Given the description of an element on the screen output the (x, y) to click on. 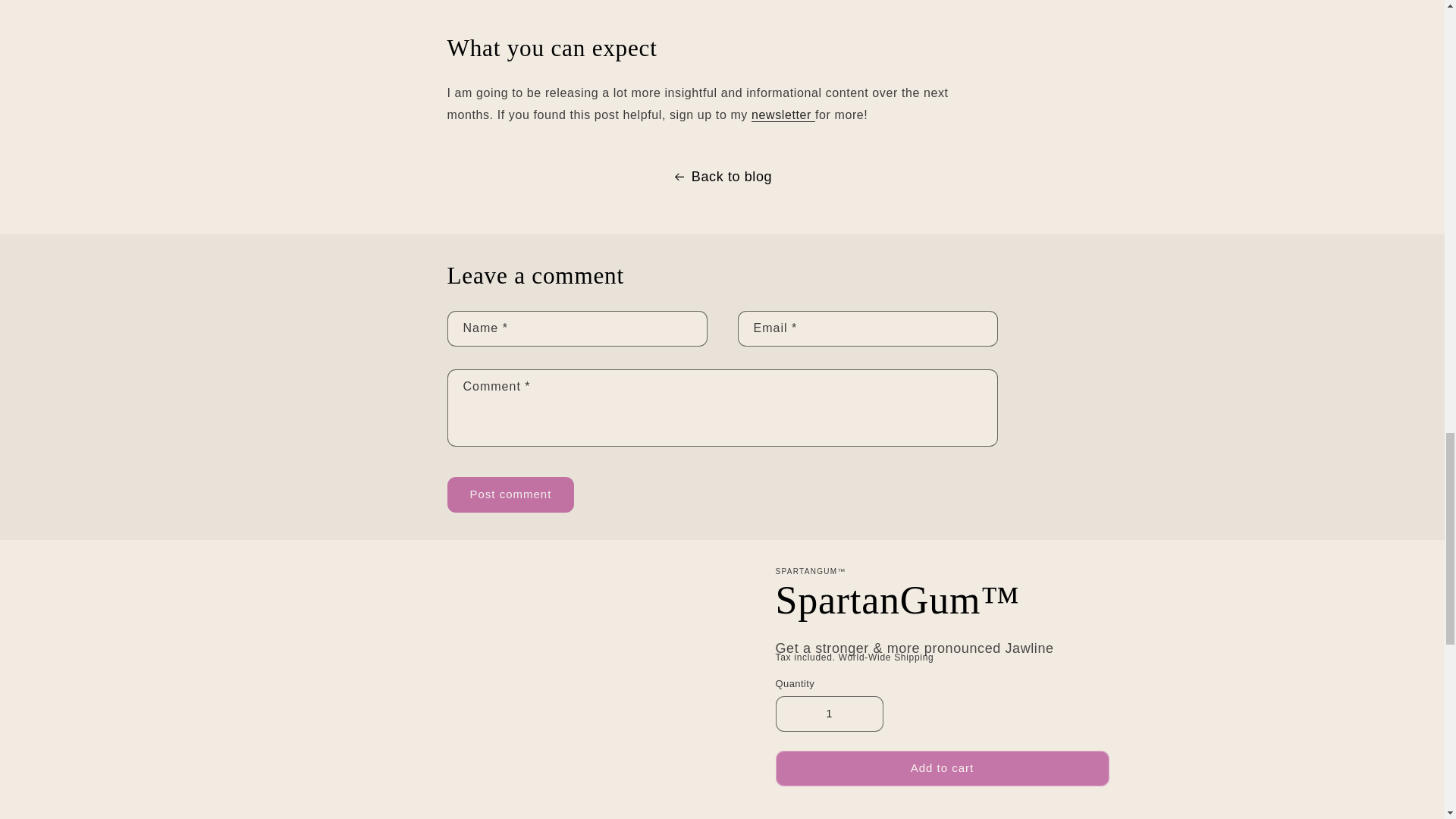
Add to cart (941, 768)
1 (828, 714)
Newsletter (783, 114)
newsletter (783, 114)
Post comment (510, 494)
Skip to product information (274, 583)
Post comment (510, 494)
